Given the description of an element on the screen output the (x, y) to click on. 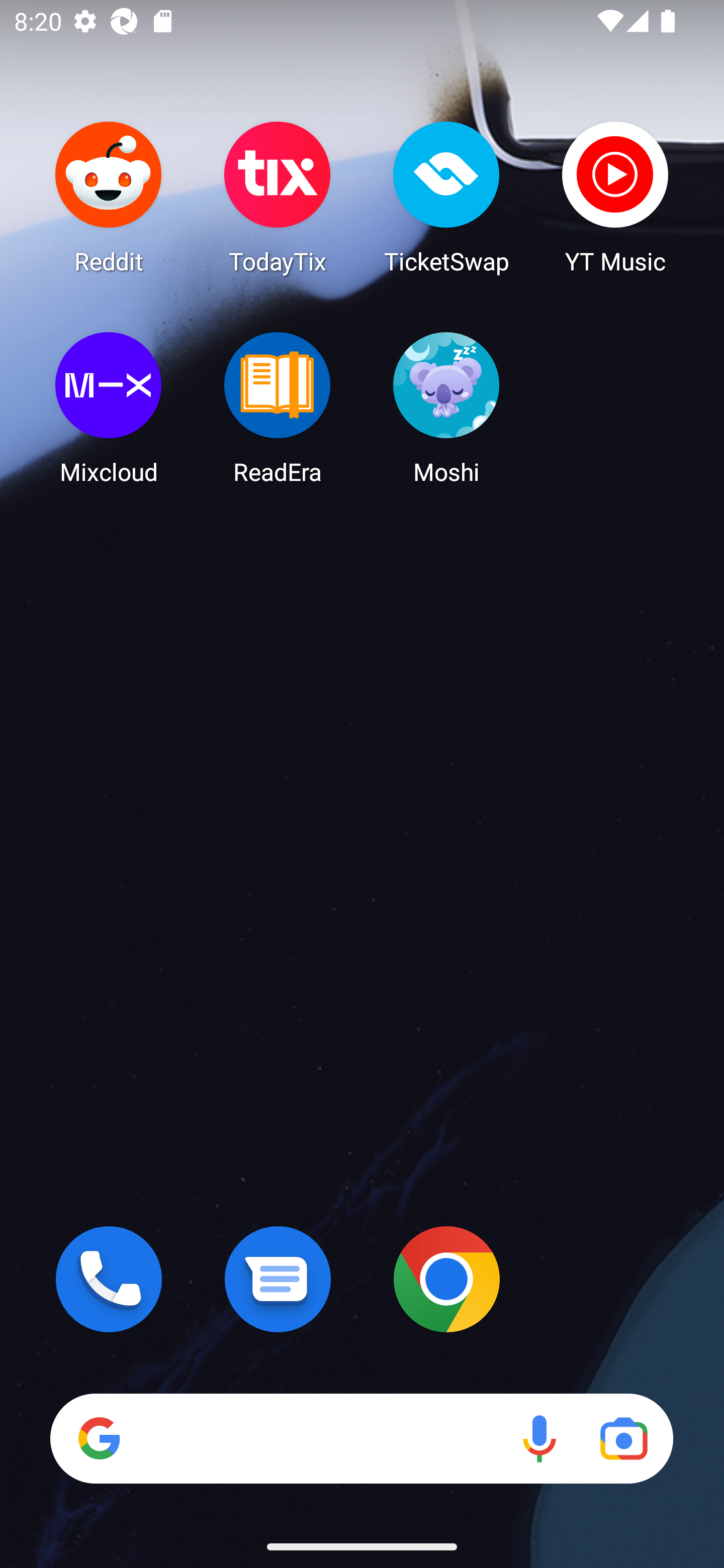
Reddit (108, 196)
TodayTix (277, 196)
TicketSwap (445, 196)
YT Music (615, 196)
Mixcloud (108, 407)
ReadEra (277, 407)
Moshi (445, 407)
Phone (108, 1279)
Messages (277, 1279)
Chrome (446, 1279)
Voice search (539, 1438)
Google Lens (623, 1438)
